Given the description of an element on the screen output the (x, y) to click on. 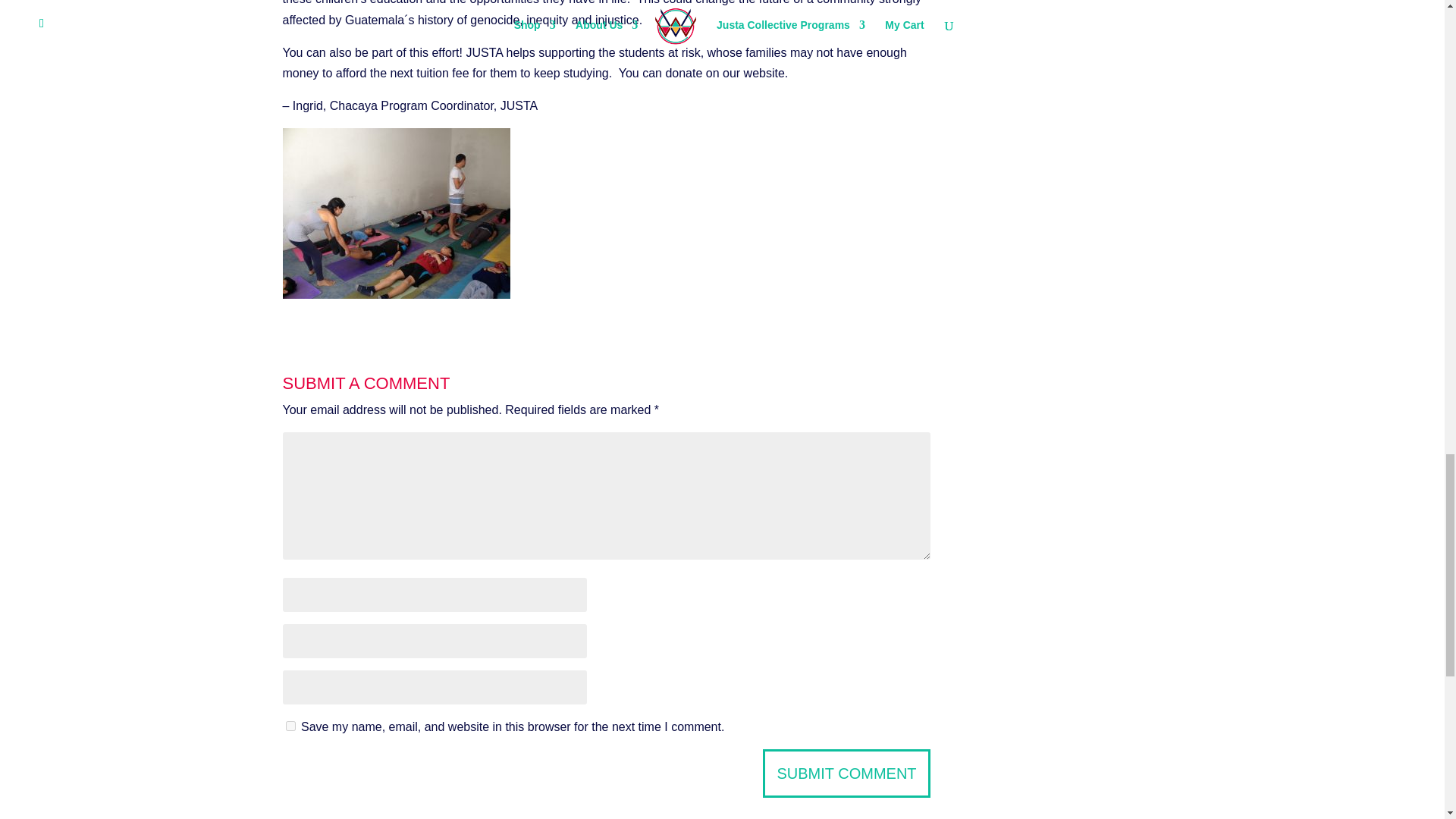
Submit Comment (846, 773)
yes (290, 726)
